Given the description of an element on the screen output the (x, y) to click on. 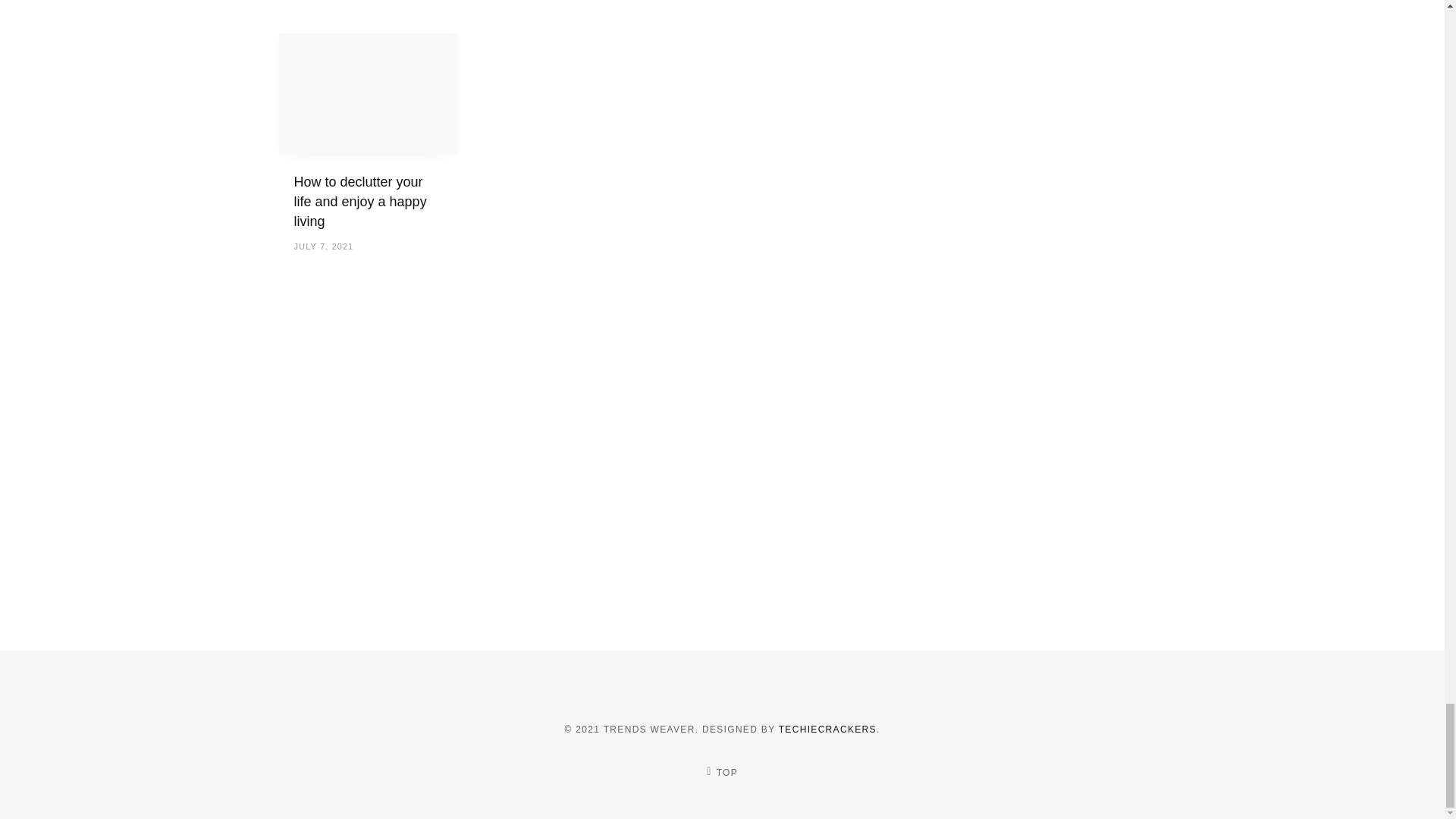
How to declutter your life and enjoy a happy living (360, 201)
How to declutter your life and enjoy a happy living (368, 93)
